Given the description of an element on the screen output the (x, y) to click on. 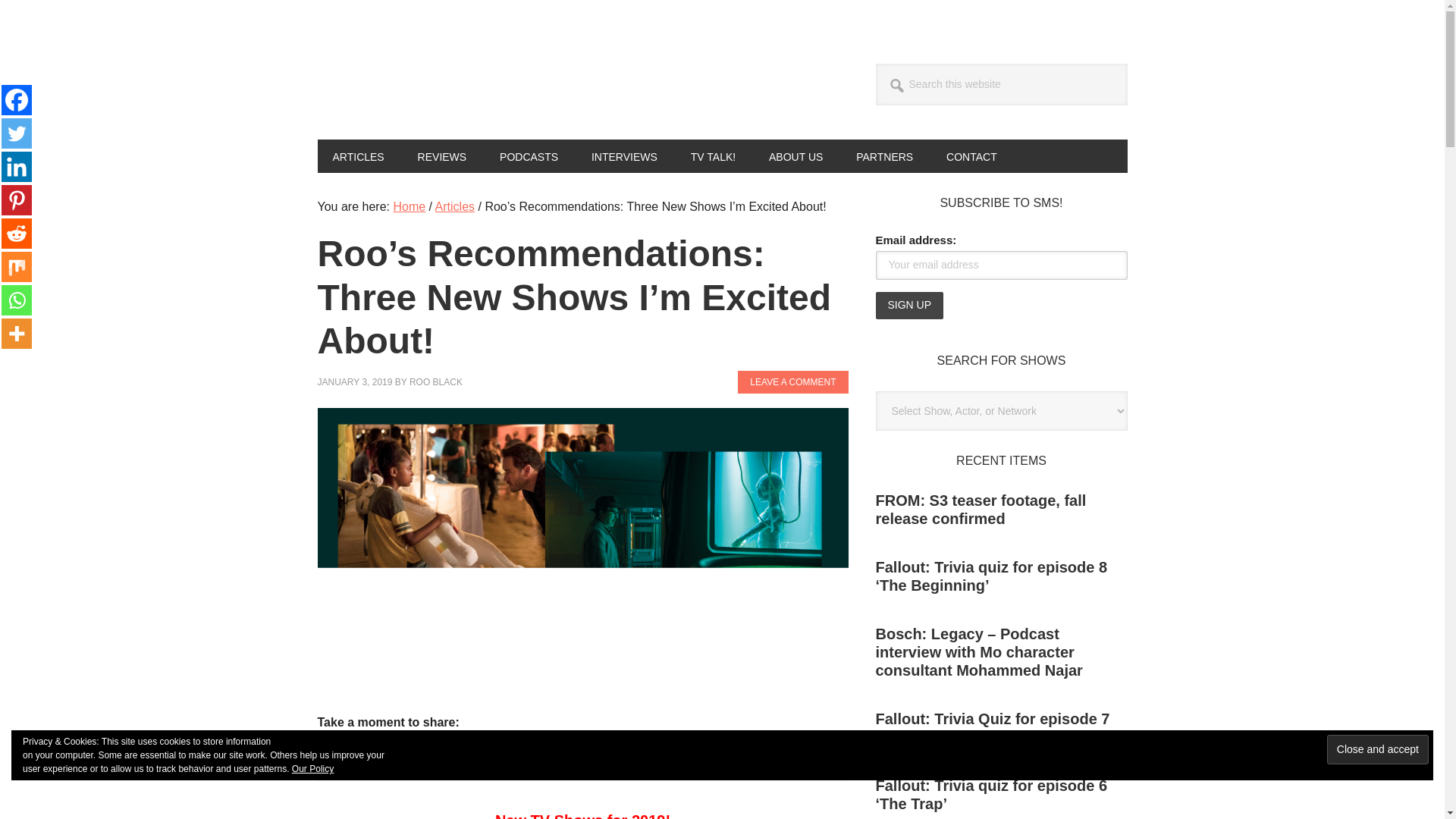
PODCASTS (528, 155)
Reddit (513, 746)
PARTNERS (884, 155)
ABOUT US (796, 155)
REVIEWS (442, 155)
Twitter (16, 132)
INTERVIEWS (624, 155)
Twitter (401, 746)
Reddit (16, 233)
CONTACT (971, 155)
More (625, 746)
Close and accept (1377, 749)
TV TALK! (713, 155)
Sign up (909, 305)
